Given the description of an element on the screen output the (x, y) to click on. 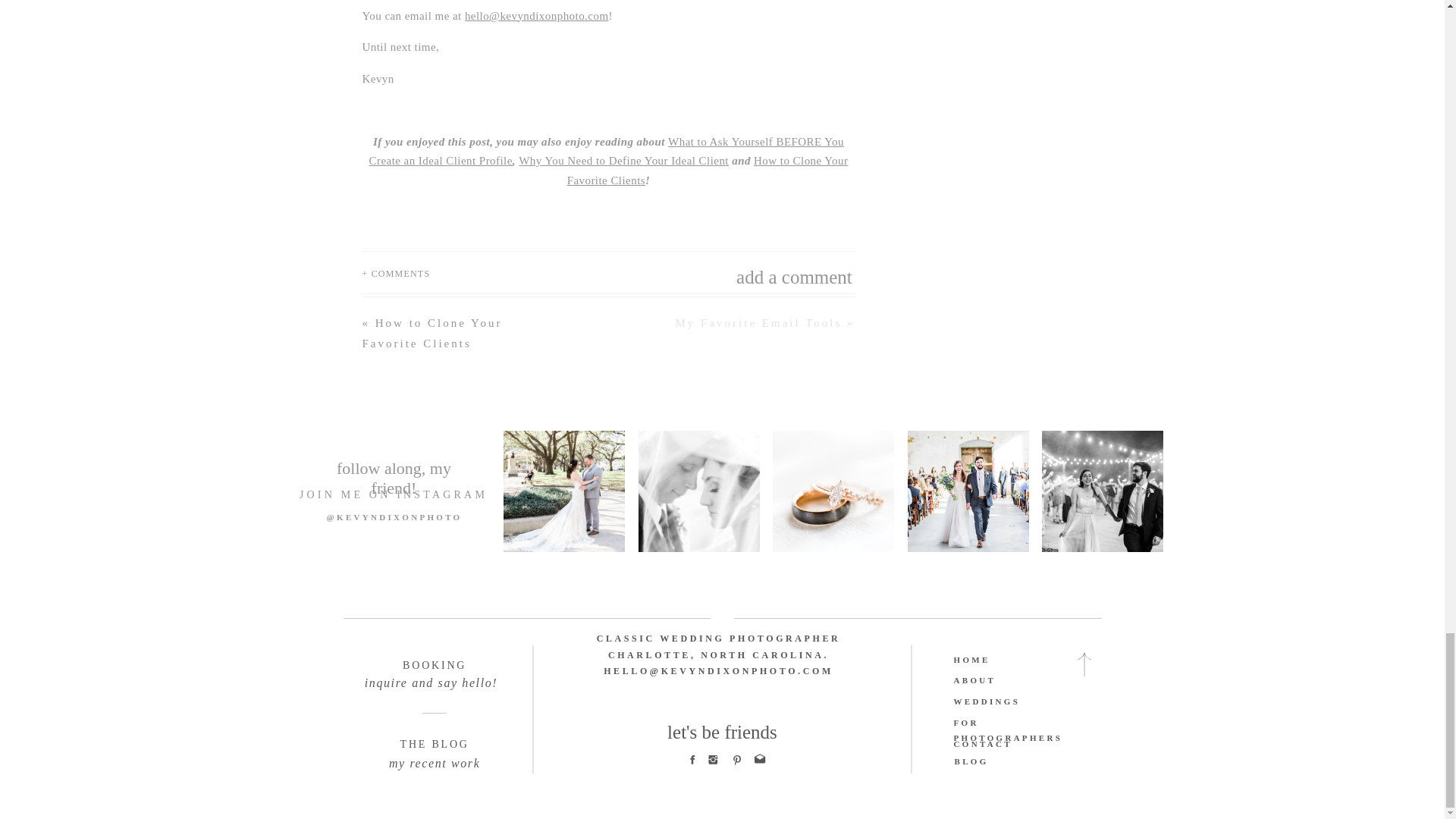
Why You Need to Define Your Ideal Client (623, 160)
add a comment (752, 273)
How to Clone Your Favorite Clients (432, 332)
How to Clone Your Favorite Clients (707, 170)
